Given the description of an element on the screen output the (x, y) to click on. 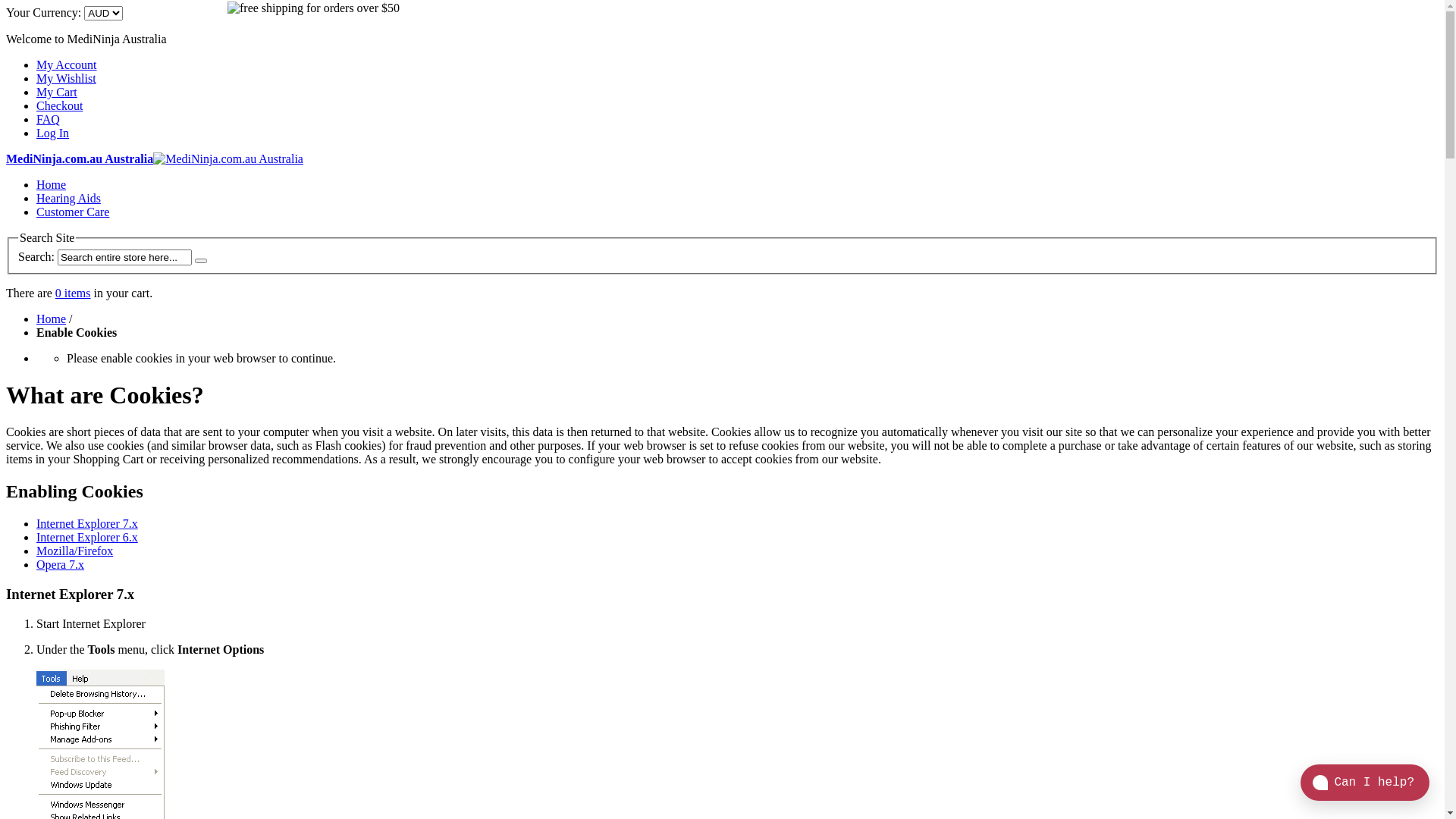
Mozilla/Firefox Element type: text (74, 550)
Search Element type: hover (200, 260)
My Cart Element type: text (737, 92)
Checkout Element type: text (59, 105)
Home Element type: text (50, 318)
Opera 7.x Element type: text (60, 564)
Internet Explorer 6.x Element type: text (87, 536)
Log In Element type: text (52, 132)
Hearing Aids Element type: text (68, 197)
0 items Element type: text (73, 292)
My Wishlist Element type: text (66, 78)
FAQ Element type: text (47, 118)
My Account Element type: text (66, 64)
Home Element type: text (50, 184)
Internet Explorer 7.x Element type: text (87, 523)
Customer Care Element type: text (72, 211)
MediNinja.com.au Australia Element type: text (154, 158)
